Given the description of an element on the screen output the (x, y) to click on. 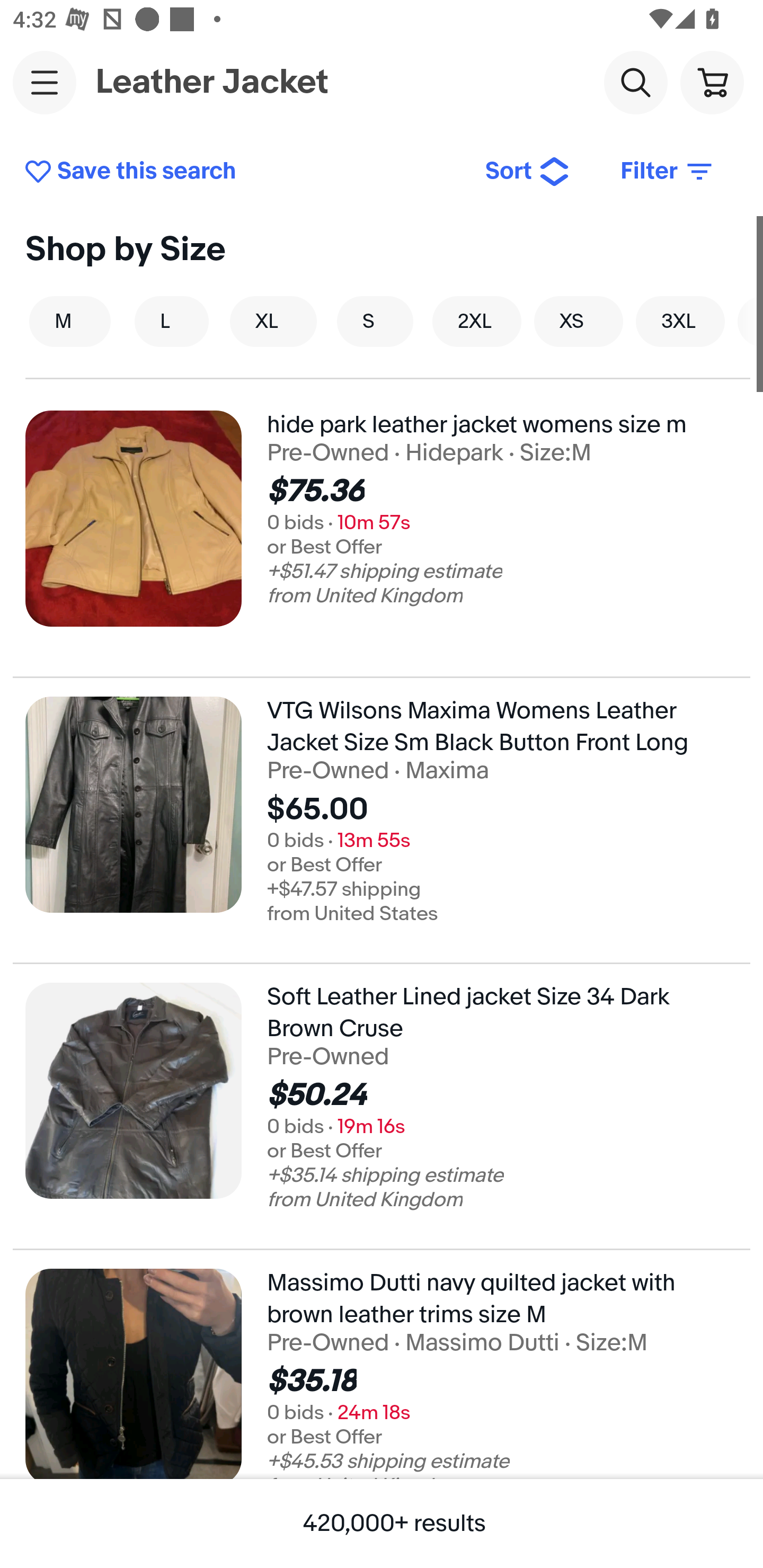
Main navigation, open (44, 82)
Search (635, 81)
Cart button shopping cart (711, 81)
Save this search (241, 171)
Sort (527, 171)
Filter (667, 171)
M M, Size (69, 321)
L L, Size (171, 321)
XL XL, Size (273, 321)
S S, Size (374, 321)
2XL 2XL, Size (476, 321)
XS XS, Size (578, 321)
3XL 3XL, Size (679, 321)
